Given the description of an element on the screen output the (x, y) to click on. 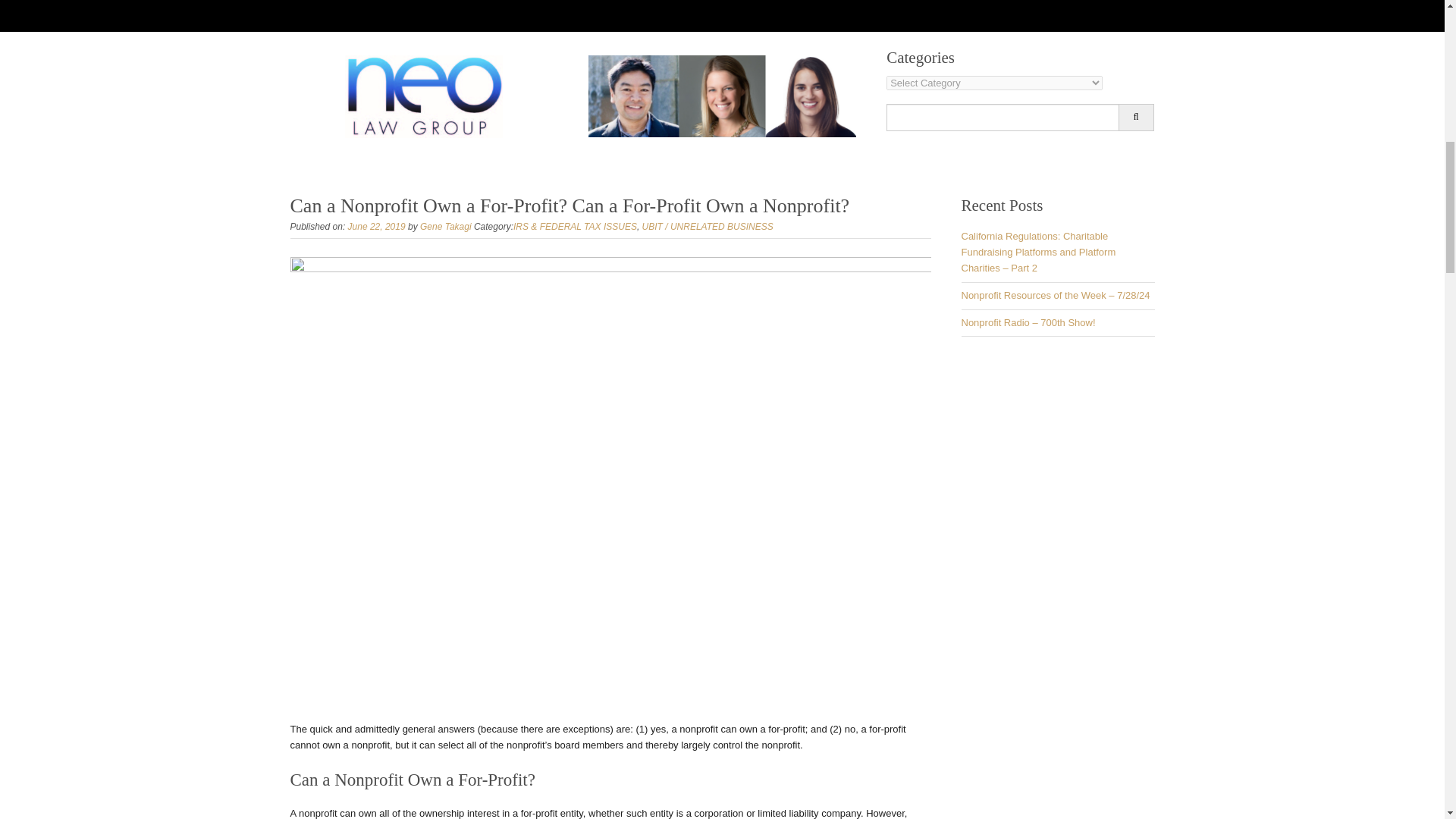
June 22, 2019 (376, 226)
Gene Takagi (445, 226)
Search (1136, 117)
